Given the description of an element on the screen output the (x, y) to click on. 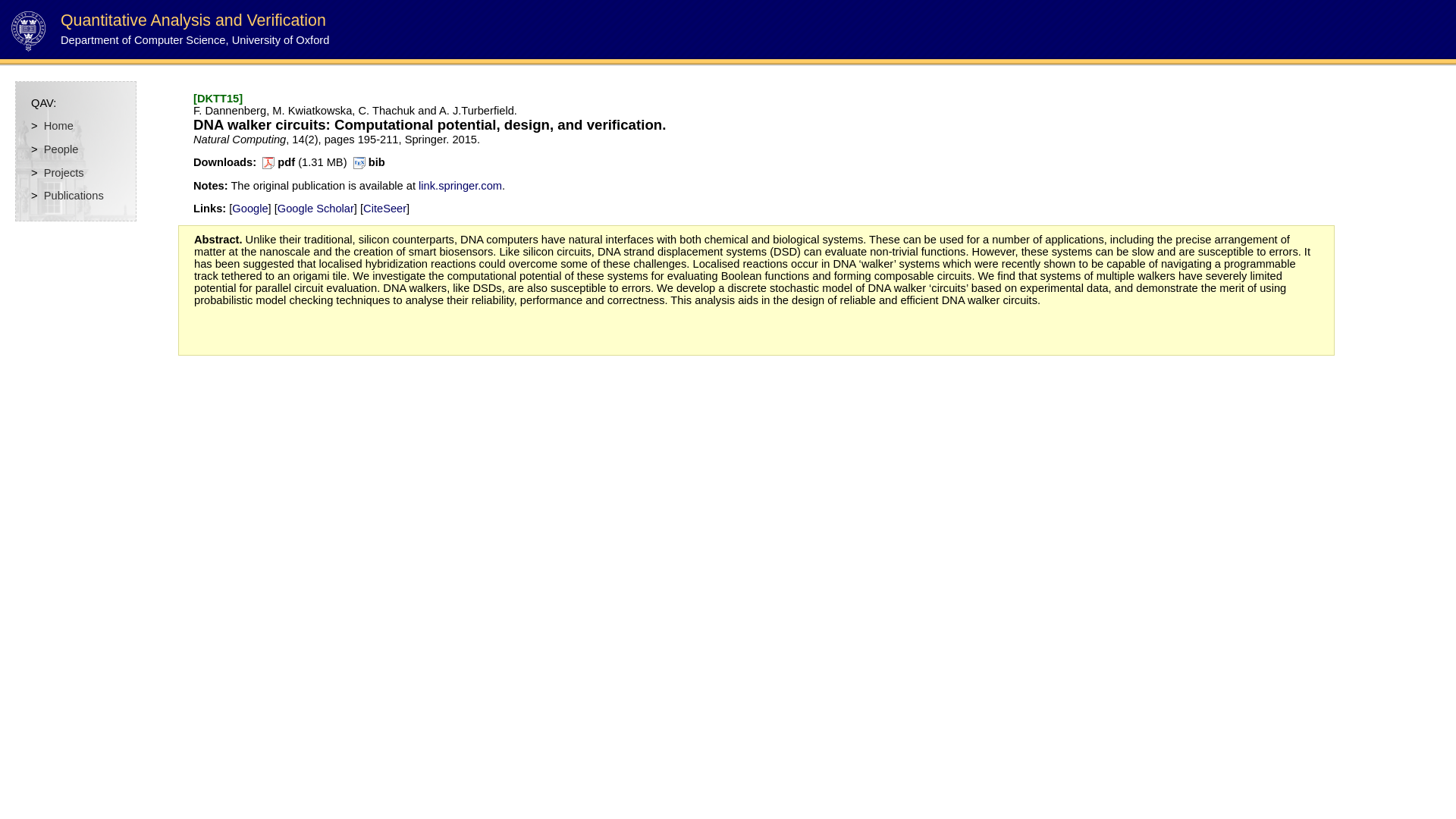
Google (249, 208)
Home (58, 125)
Projects (63, 173)
People (60, 149)
link.springer.com (460, 185)
Quantitative Analysis and Verification (193, 20)
Department of Computer Science, University of Oxford (195, 39)
CiteSeer (384, 208)
Google Scholar (315, 208)
Publications (73, 195)
